Given the description of an element on the screen output the (x, y) to click on. 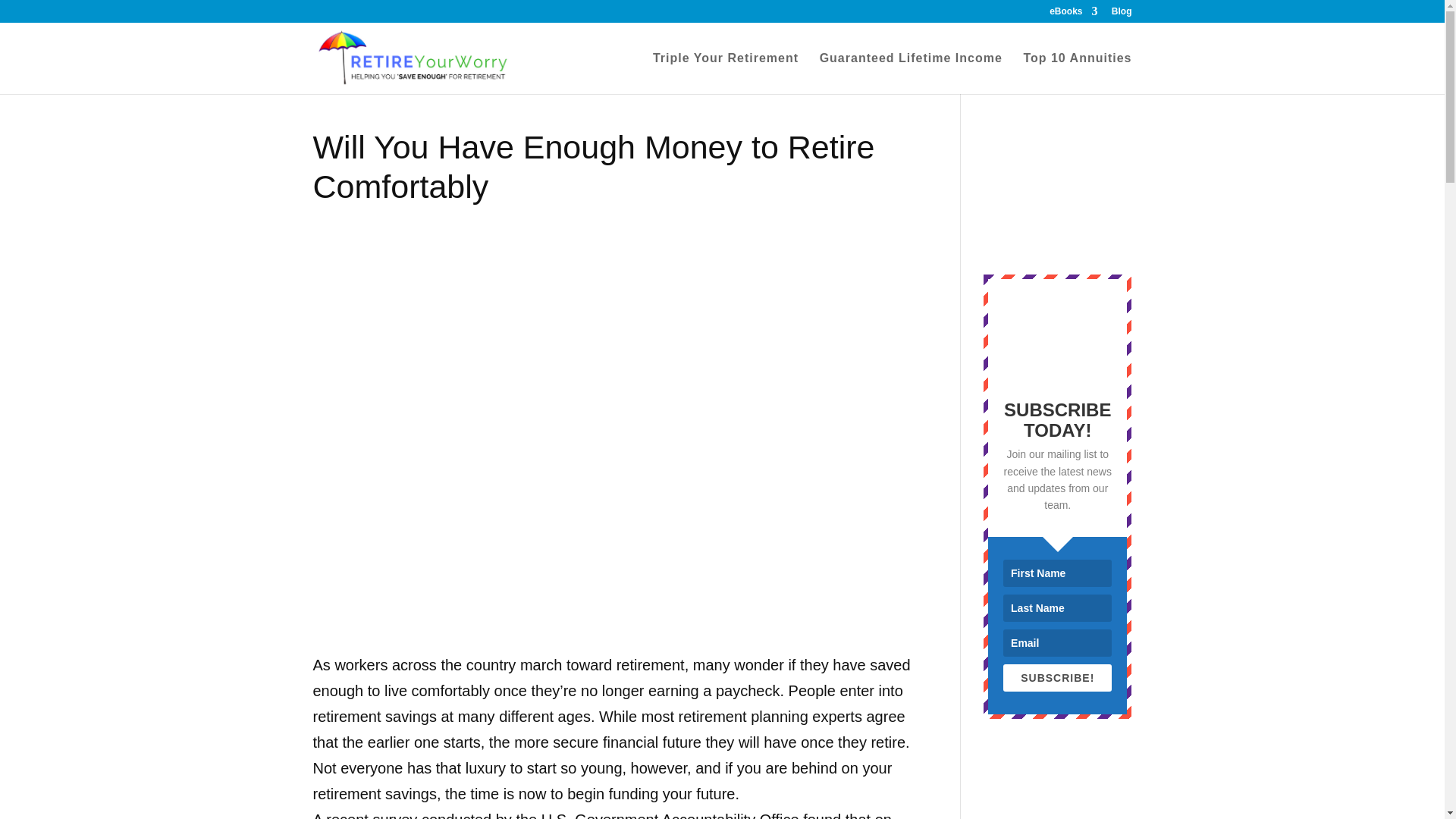
Guaranteed Lifetime Income (911, 73)
Blog (1122, 14)
Triple Your Retirement (724, 73)
eBooks (1073, 14)
SUBSCRIBE! (1057, 677)
Top 10 Annuities (1077, 73)
